Given the description of an element on the screen output the (x, y) to click on. 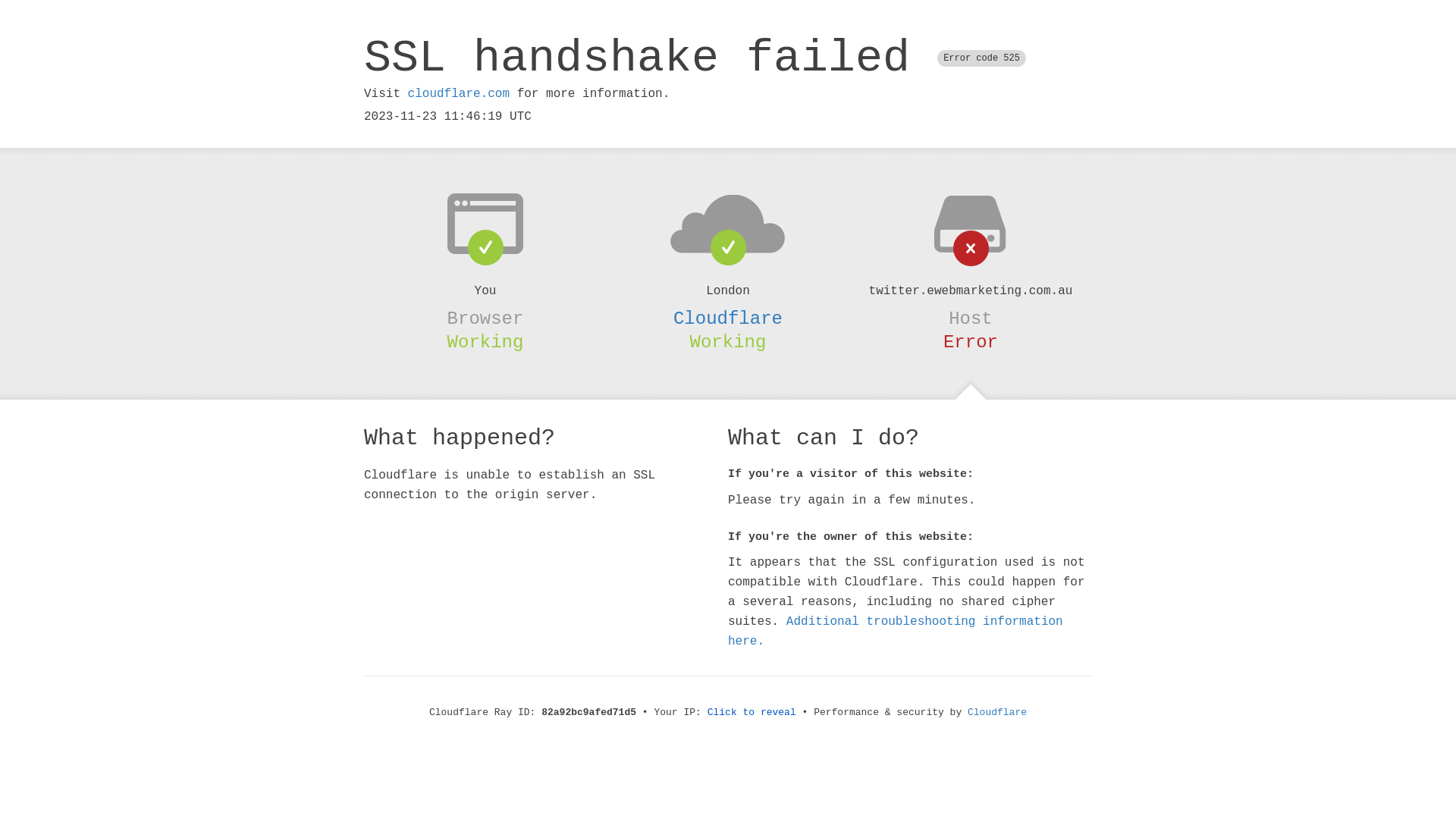
Additional troubleshooting information here. Element type: text (895, 631)
Cloudflare Element type: text (996, 712)
Cloudflare Element type: text (727, 318)
cloudflare.com Element type: text (458, 93)
Click to reveal Element type: text (751, 712)
